Given the description of an element on the screen output the (x, y) to click on. 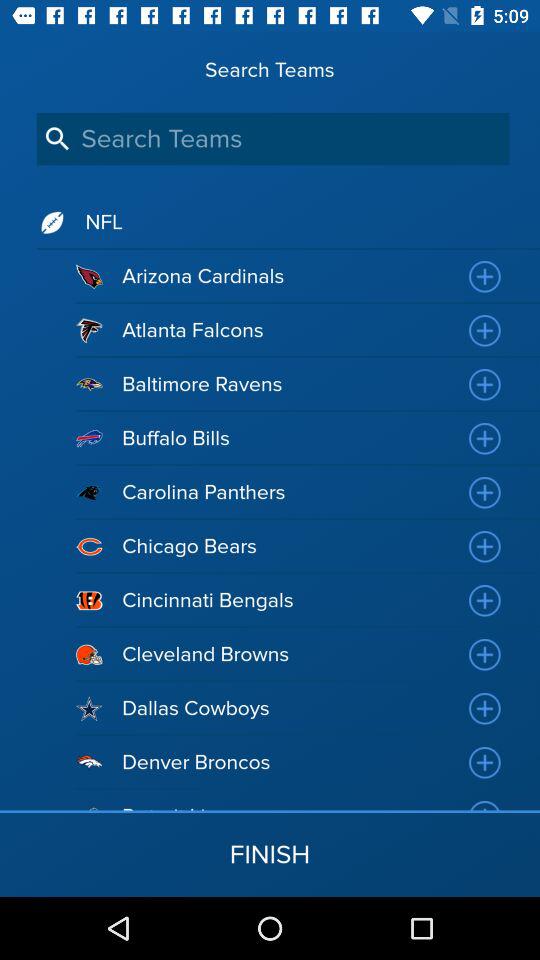
type in search term (272, 138)
